Given the description of an element on the screen output the (x, y) to click on. 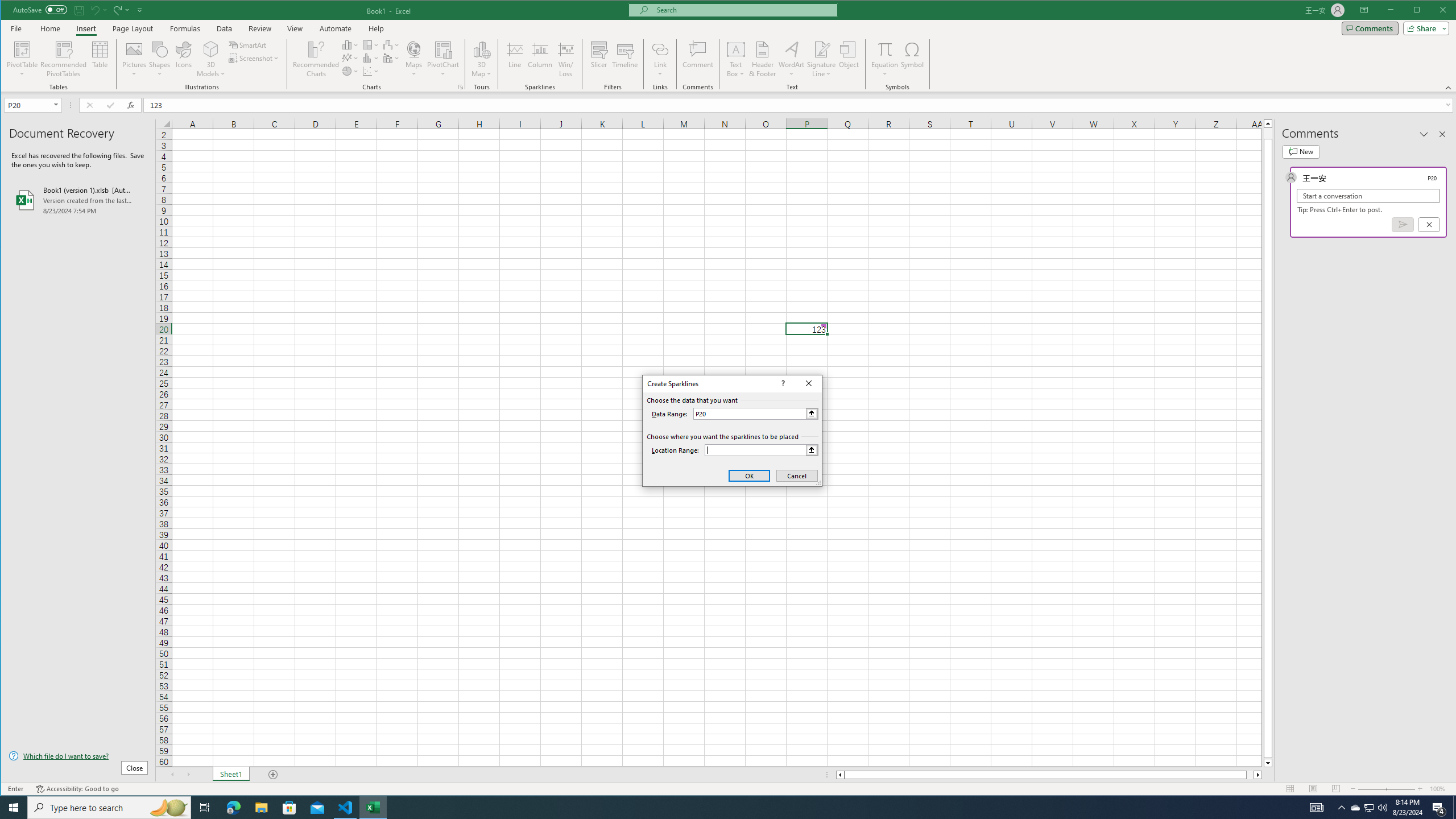
PivotChart (443, 48)
Insert Combo Chart (391, 57)
Line down (1267, 763)
Link (659, 48)
File Explorer (261, 807)
WordArt (791, 59)
Accessibility Checker Accessibility: Good to go (77, 788)
Context help (781, 383)
Add Sheet (272, 774)
Excel - 1 running window (373, 807)
Insert Column or Bar Chart (350, 44)
Link (659, 59)
Column left (839, 774)
